Given the description of an element on the screen output the (x, y) to click on. 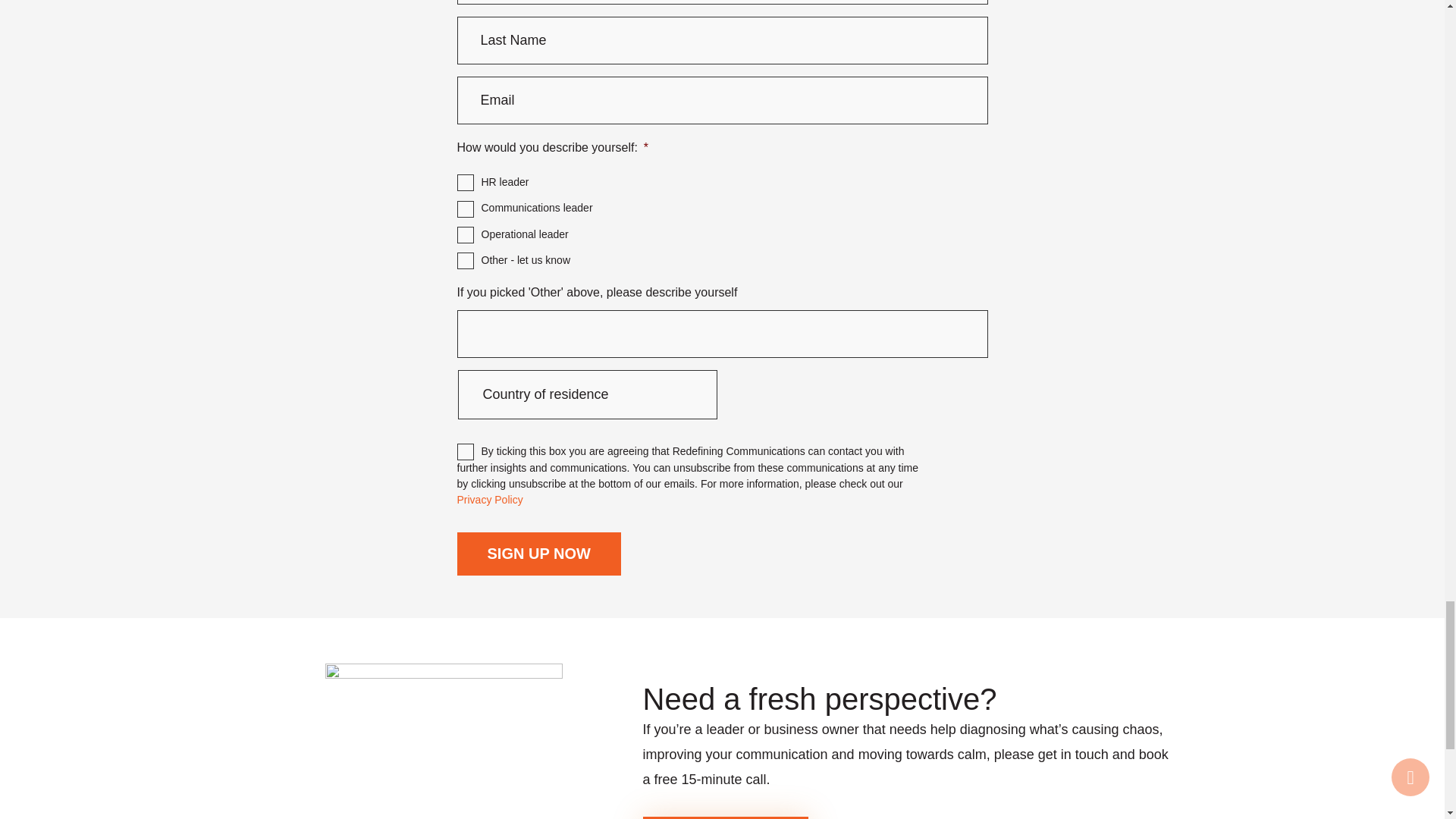
Sign up now (538, 553)
